Given the description of an element on the screen output the (x, y) to click on. 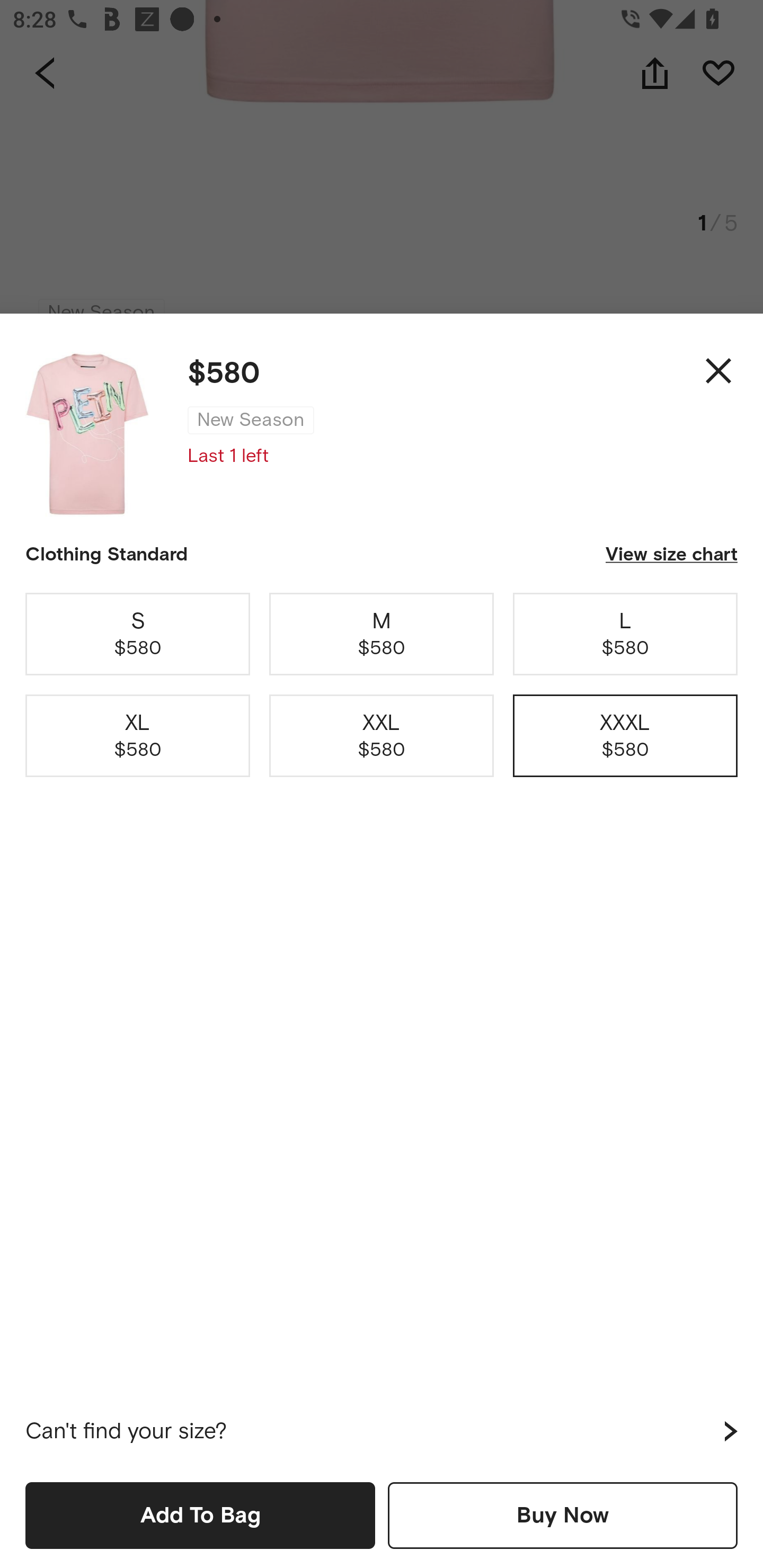
S $580 (137, 633)
M $580 (381, 633)
L $580 (624, 633)
XL $580 (137, 735)
XXL $580 (381, 735)
XXXL $580 (624, 735)
Can't find your size? (381, 1431)
Add To Bag (200, 1515)
Buy Now (562, 1515)
